Given the description of an element on the screen output the (x, y) to click on. 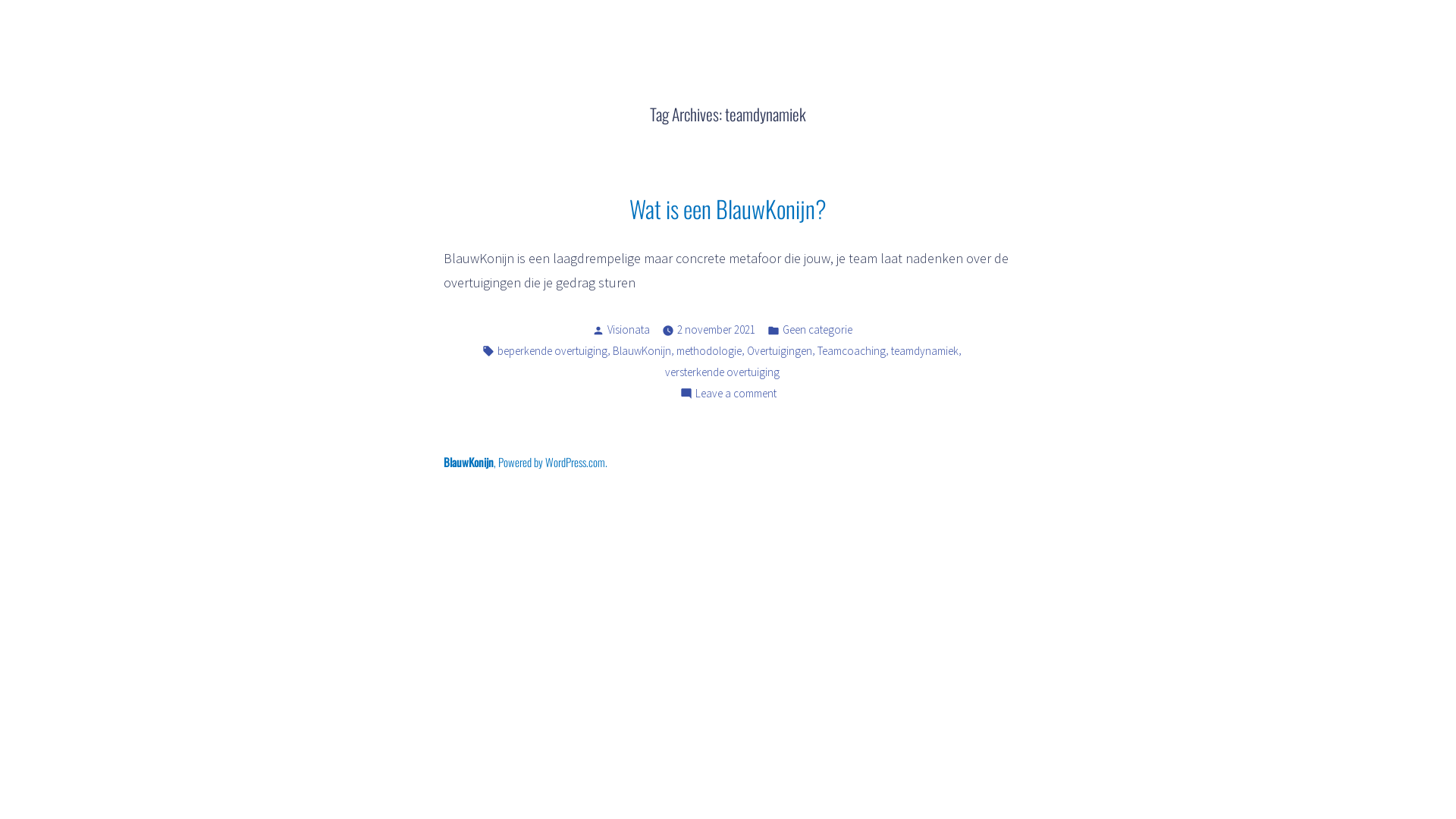
Geen categorie Element type: text (817, 330)
Wat is een BlauwKonijn? Element type: text (727, 208)
teamdynamiek Element type: text (924, 351)
BlauwKonijn Element type: text (641, 351)
BlauwKonijn Element type: text (468, 461)
beperkende overtuiging Element type: text (552, 351)
Overtuigingen Element type: text (779, 351)
Powered by WordPress.com Element type: text (551, 461)
BlauwKonijn Element type: text (59, 58)
Visionata Element type: text (627, 329)
versterkende overtuiging Element type: text (721, 372)
methodologie Element type: text (708, 351)
Leave a comment Element type: text (734, 393)
Teamcoaching Element type: text (851, 351)
2 november 2021 Element type: text (715, 330)
